Given the description of an element on the screen output the (x, y) to click on. 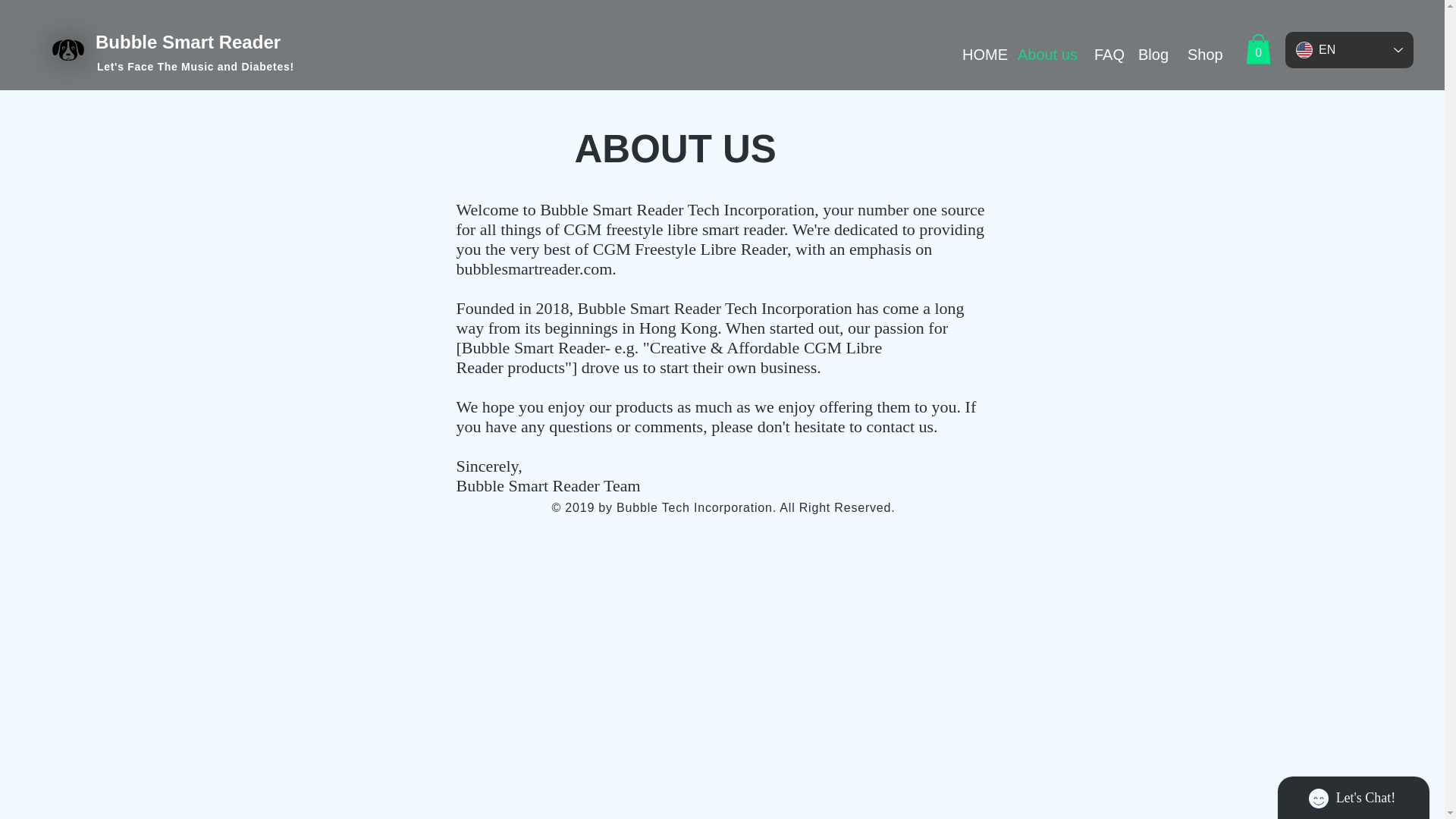
Bubble Smart Reader (188, 41)
About us (1044, 54)
Let's Face The Music and Diabetes!  (197, 66)
FAQ (1104, 54)
Shop (1202, 54)
HOME (978, 54)
Blog (1151, 54)
